Given the description of an element on the screen output the (x, y) to click on. 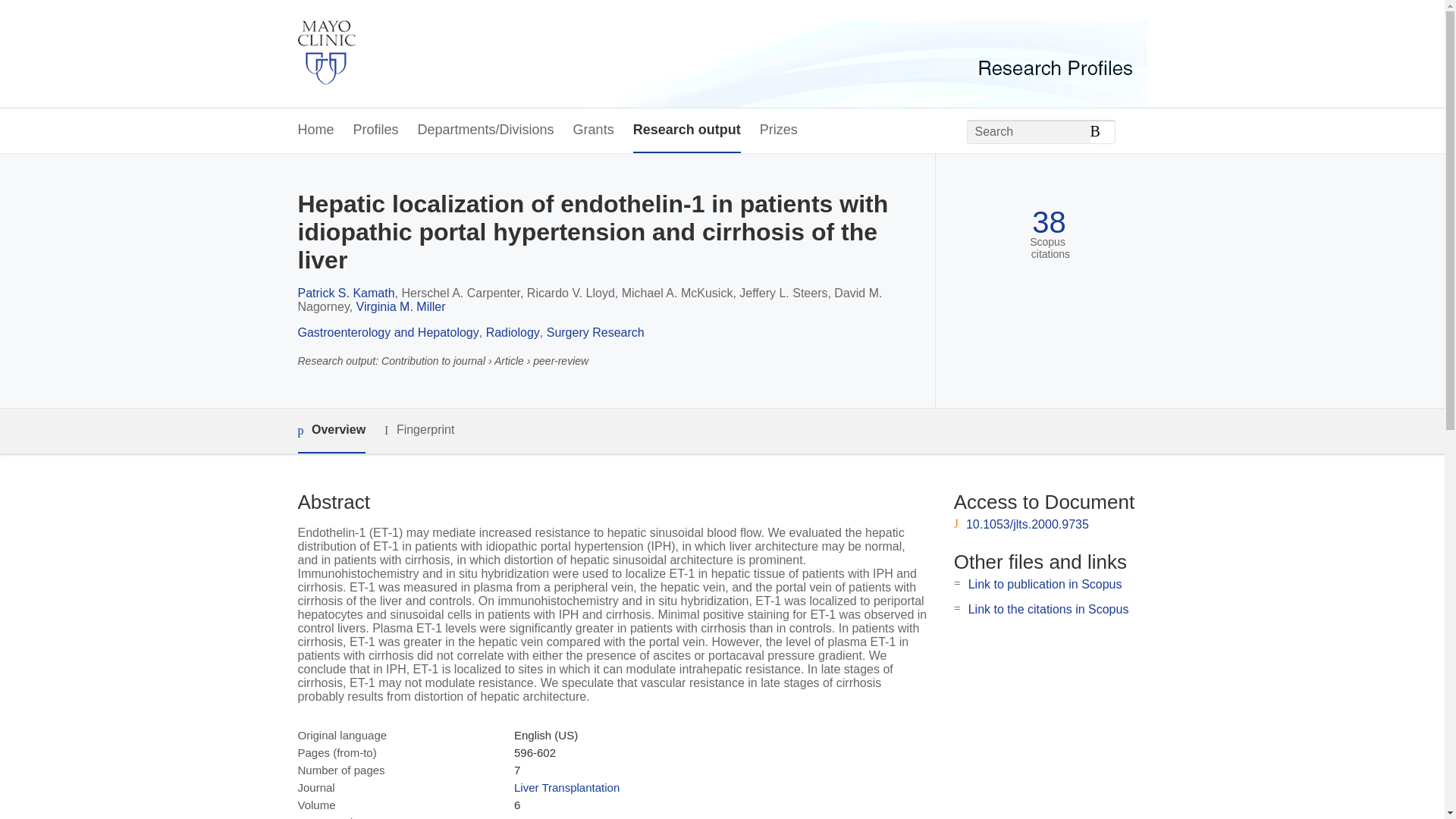
Profiles (375, 130)
Surgery Research (596, 332)
Link to publication in Scopus (1045, 584)
Grants (593, 130)
Overview (331, 430)
Gastroenterology and Hepatology (388, 332)
Liver Transplantation (566, 787)
Link to the citations in Scopus (1048, 608)
Radiology (513, 332)
Virginia M. Miller (400, 306)
Fingerprint (419, 430)
Patrick S. Kamath (345, 292)
Research output (687, 130)
38 (1048, 222)
